Given the description of an element on the screen output the (x, y) to click on. 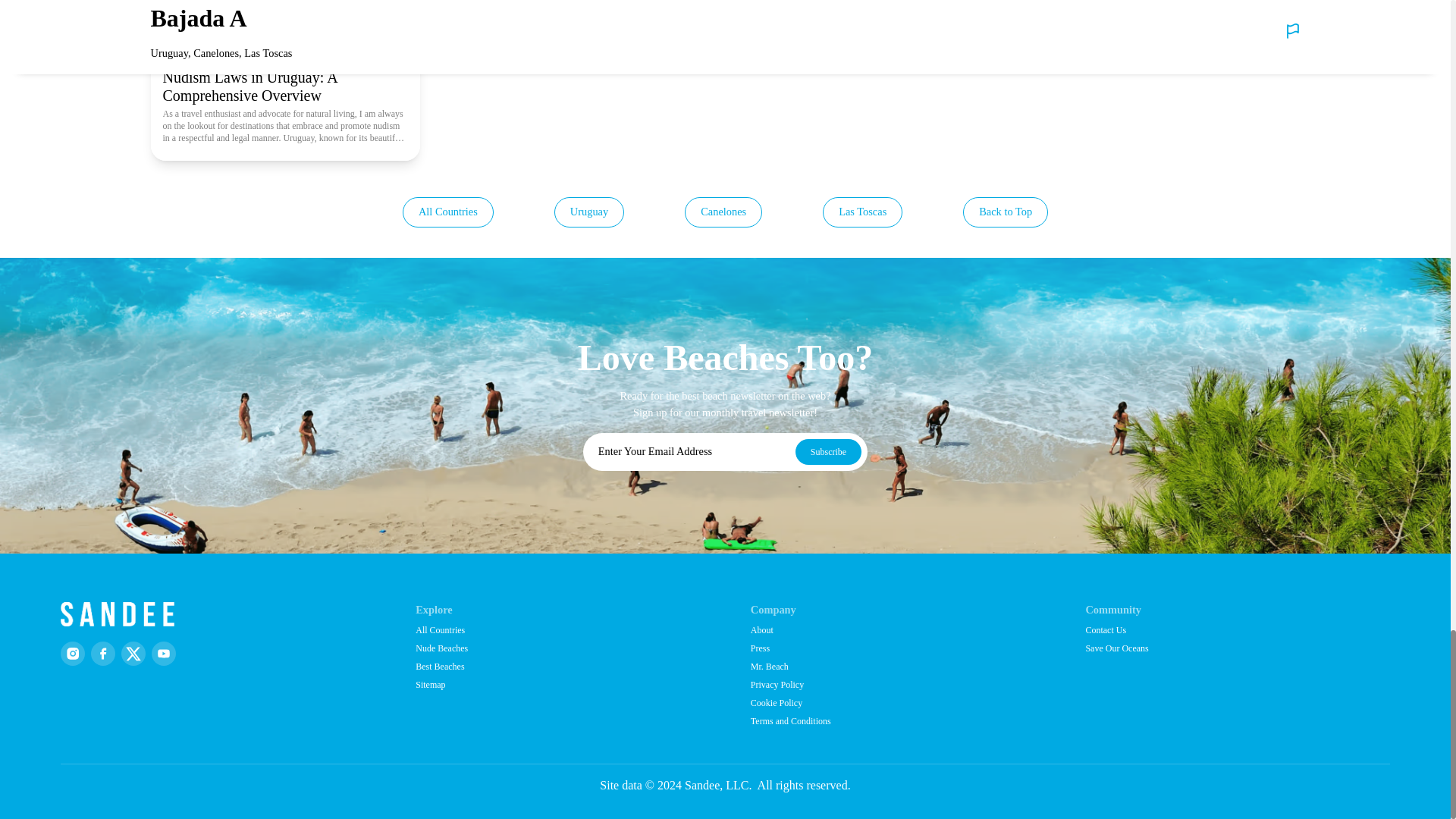
Las Toscas (862, 212)
Uruguay (589, 212)
Canelones (722, 212)
Invalid email address (687, 451)
Back to Top (1005, 212)
All Countries (448, 212)
